Given the description of an element on the screen output the (x, y) to click on. 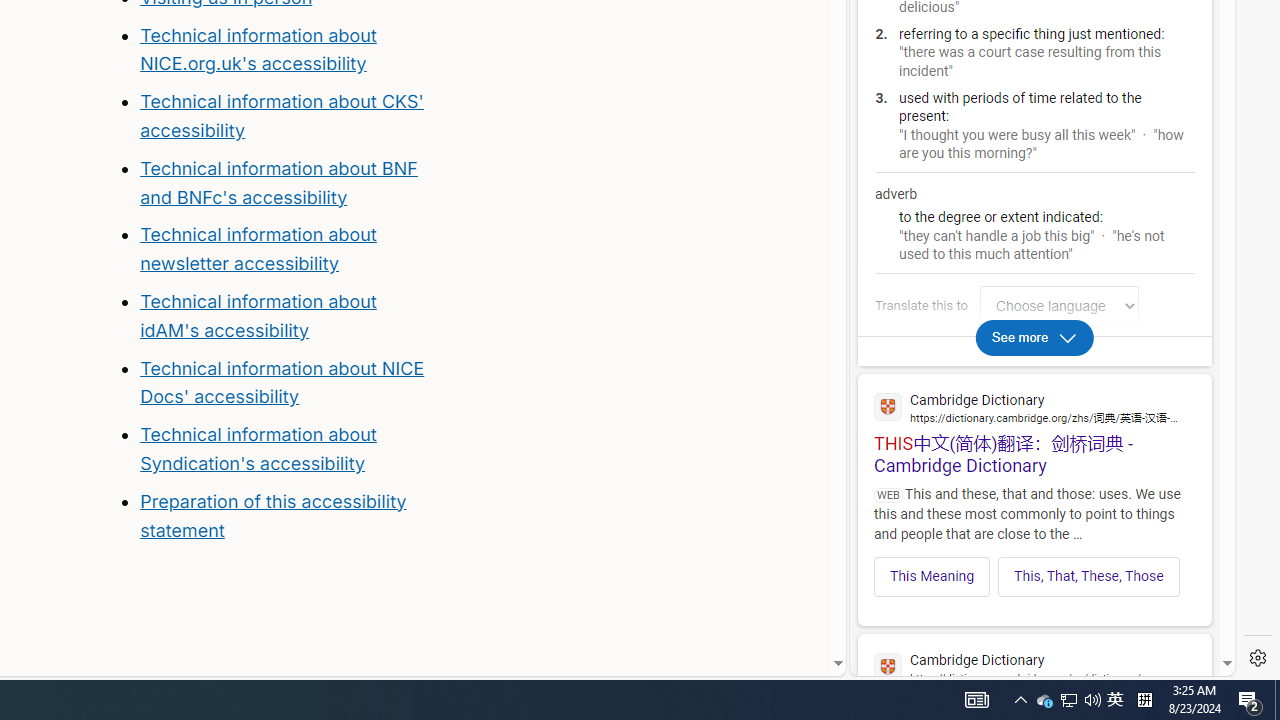
Technical information about BNF and BNFc's accessibility (278, 182)
This Meaning (932, 575)
Preparation of this accessibility statement (287, 515)
This, That, These, Those (1088, 575)
Technical information about NICE.org.uk's accessibility (258, 48)
Technical information about Syndication's accessibility (258, 448)
Link for logging (1064, 305)
Technical information about idAM's accessibility (258, 315)
Technical information about NICE Docs' accessibility (281, 382)
